Given the description of an element on the screen output the (x, y) to click on. 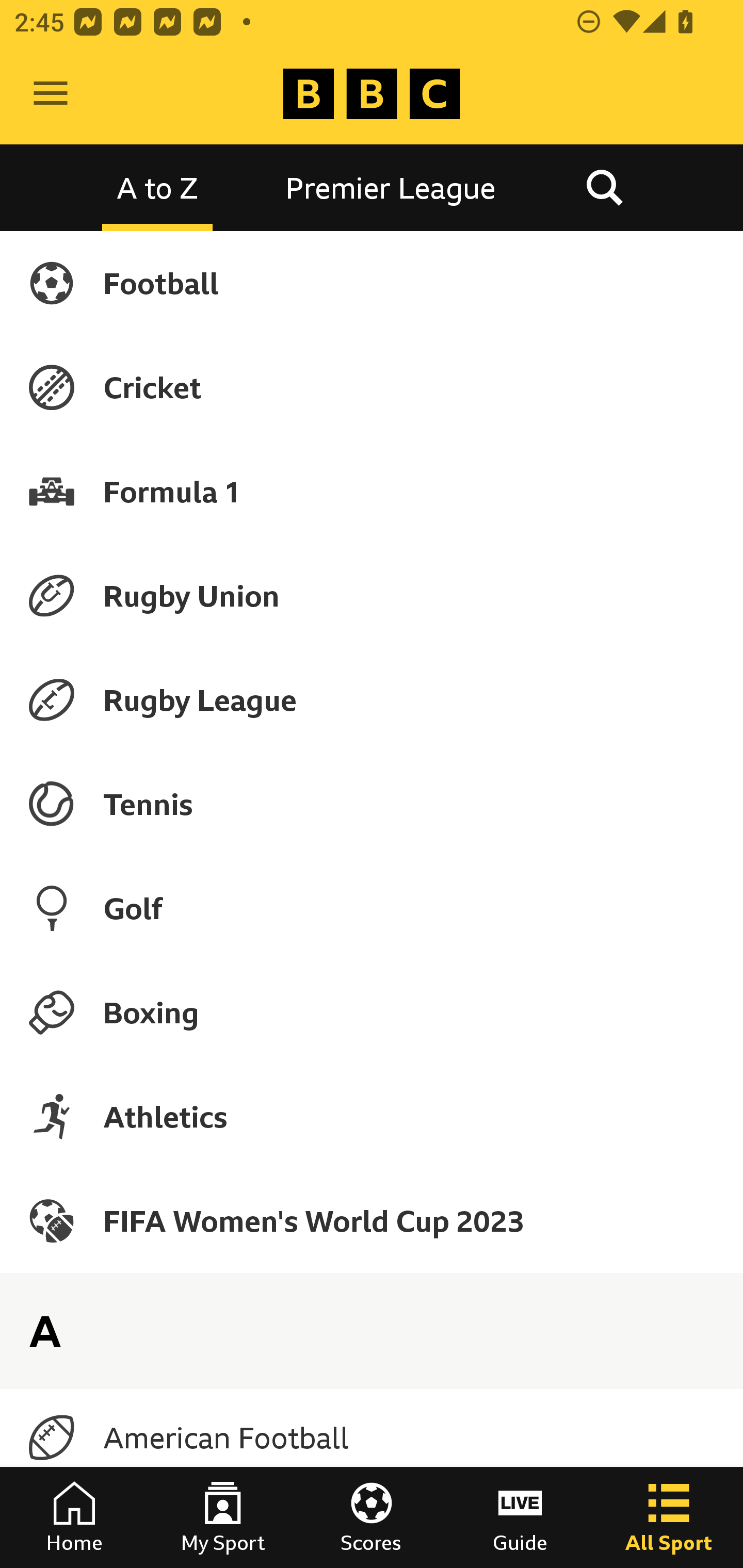
Open Menu (50, 93)
Premier League (390, 187)
Search (604, 187)
Football (371, 282)
Cricket (371, 387)
Formula 1 (371, 491)
Rugby Union (371, 595)
Rugby League (371, 699)
Tennis (371, 804)
Golf (371, 907)
Boxing (371, 1011)
Athletics (371, 1116)
FIFA Women's World Cup 2023 (371, 1220)
American Football (371, 1437)
Home (74, 1517)
My Sport (222, 1517)
Scores (371, 1517)
Guide (519, 1517)
